Given the description of an element on the screen output the (x, y) to click on. 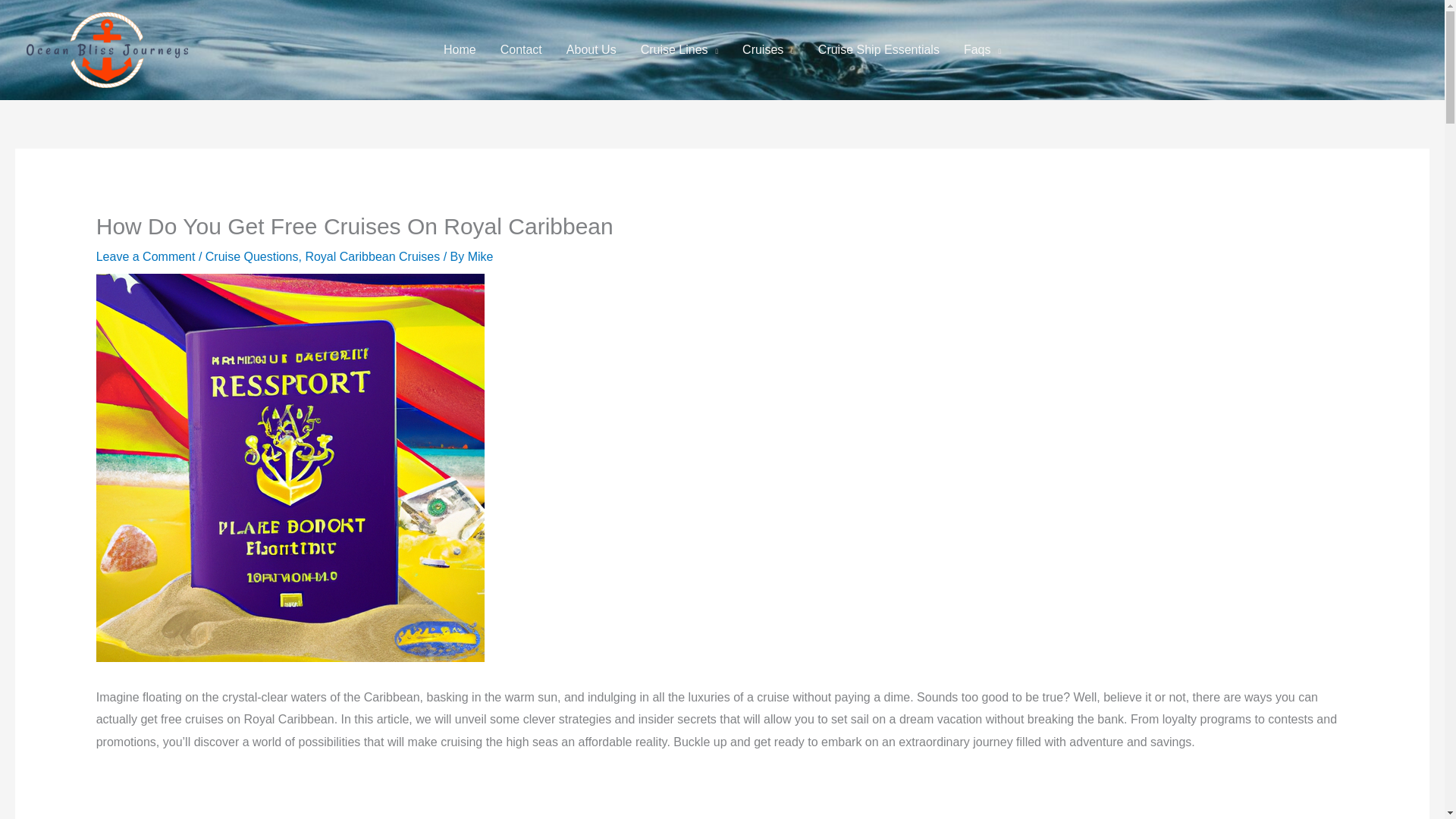
Cruise Ship Essentials (879, 49)
Mike (480, 256)
View all posts by Mike (480, 256)
Leave a Comment (145, 256)
Royal Caribbean Cruises (371, 256)
Cruise Lines (679, 49)
Cruise Questions (251, 256)
